Given the description of an element on the screen output the (x, y) to click on. 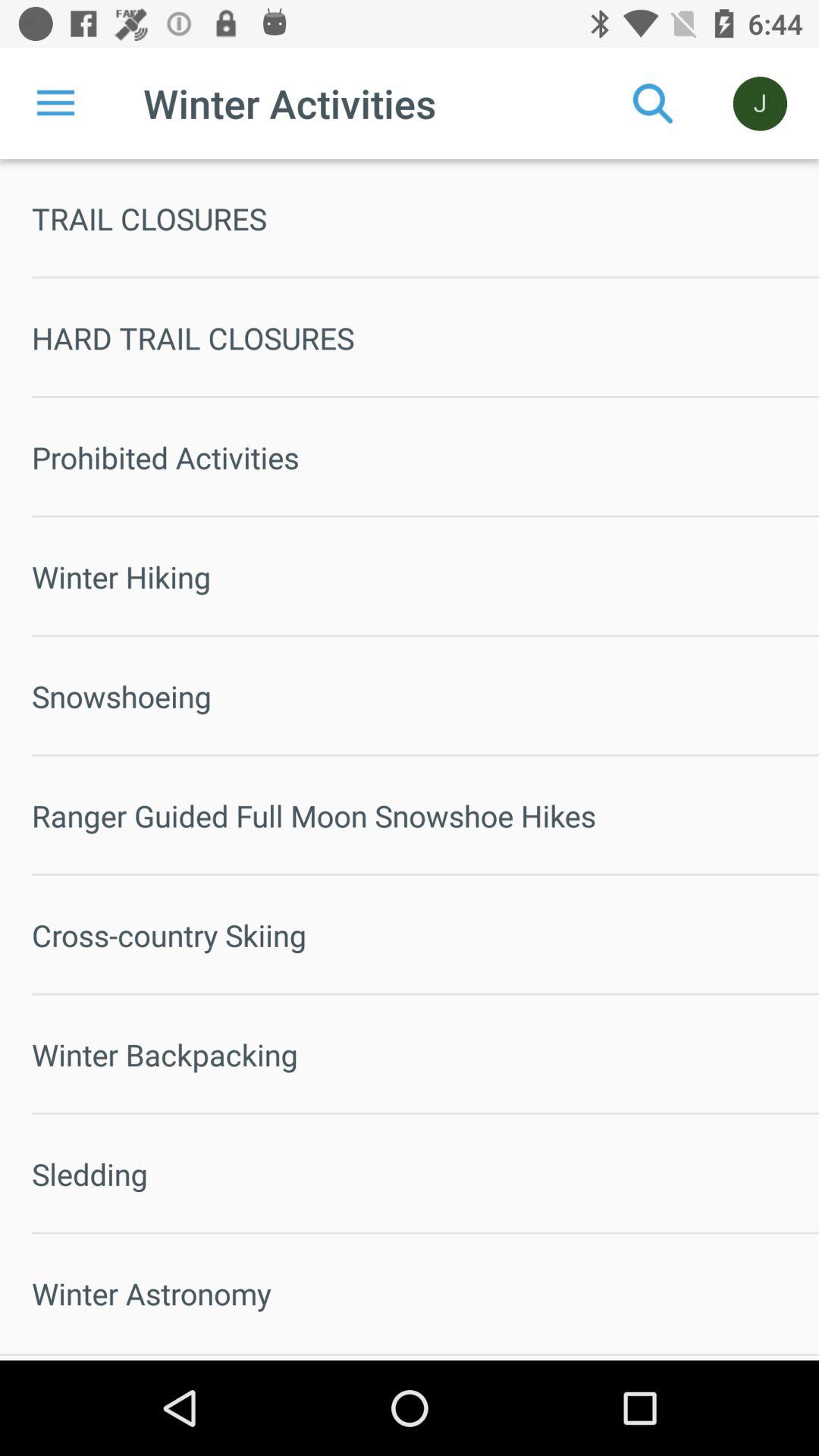
open cross-country skiing icon (425, 935)
